Given the description of an element on the screen output the (x, y) to click on. 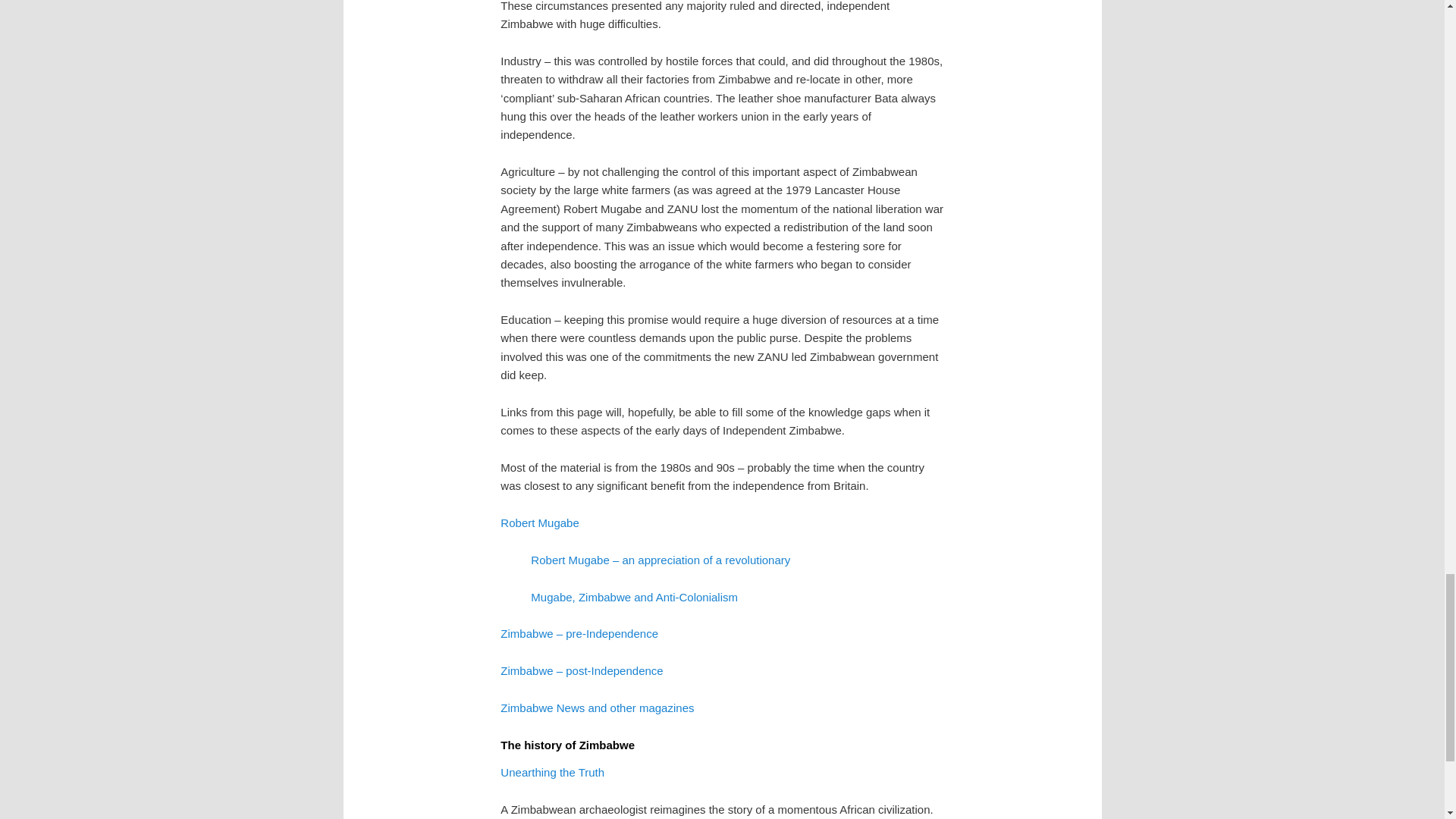
Zimbabwe News and other magazines (597, 707)
Mugabe, Zimbabwe and Anti-Colonialism (634, 596)
Robert Mugabe (539, 522)
Unearthing the Truth (552, 771)
